Given the description of an element on the screen output the (x, y) to click on. 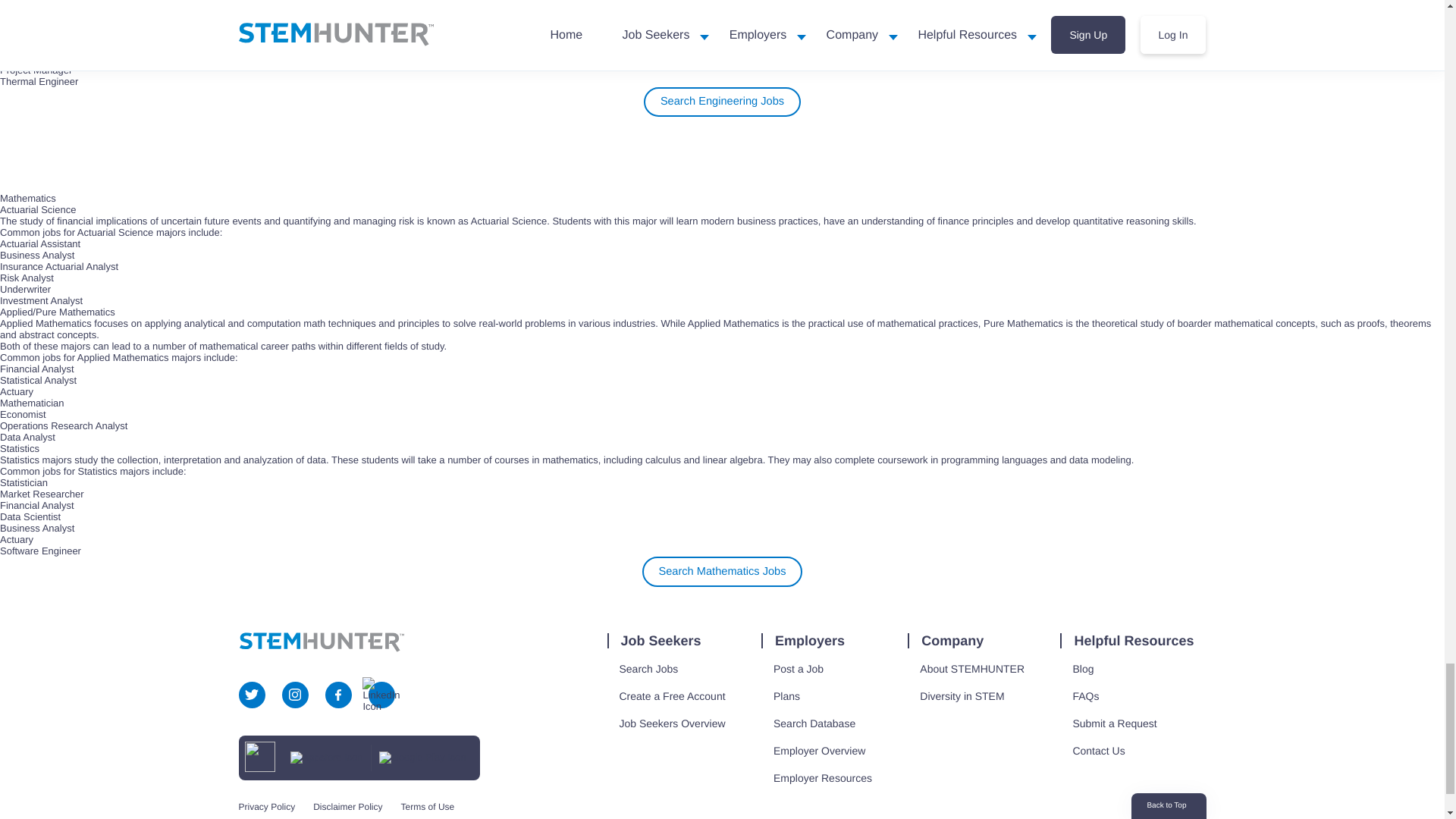
Follow STEMHUNTER on Twitter (251, 694)
Download the STEMHUNTER App on the Play Store (421, 757)
Follow STEMHUNTER on Instagram (294, 694)
Search Mathematics Jobs (722, 571)
Search Engineering Jobs (721, 101)
Follow STEMHUNTER on LinkedIn (380, 694)
Download the STEMHUNTER App on the Appstore (325, 757)
